Given the description of an element on the screen output the (x, y) to click on. 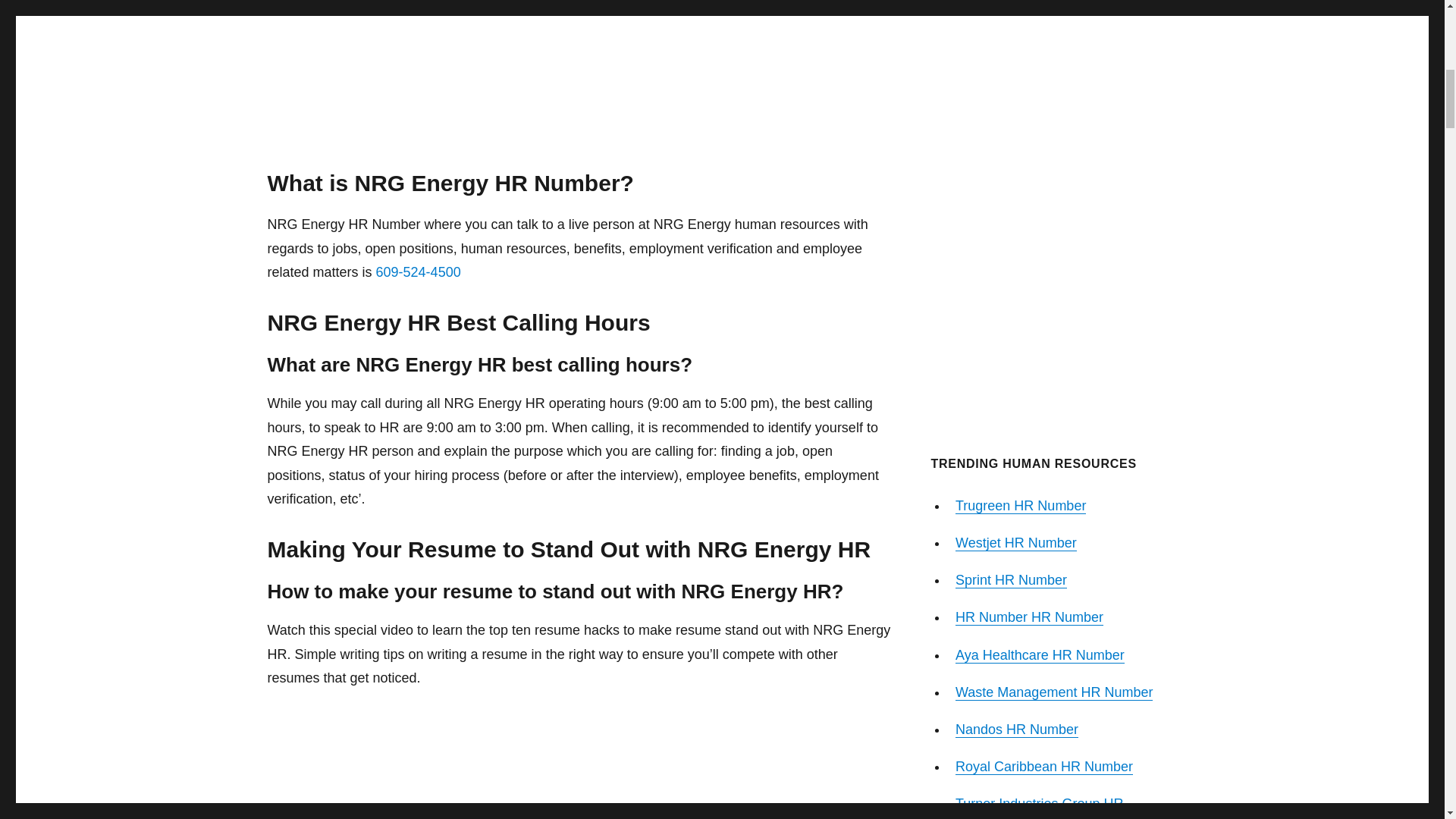
Aya Healthcare HR Number (1039, 654)
609-524-4500 (418, 272)
Nandos HR Number (1016, 729)
Turner Industries Group HR Number (1038, 807)
Westjet HR Number (1016, 542)
HR Number HR Number (1029, 616)
Waste Management HR Number (1054, 692)
Trugreen HR Number (1020, 505)
Royal Caribbean HR Number (1043, 766)
Sprint HR Number (1011, 580)
